Given the description of an element on the screen output the (x, y) to click on. 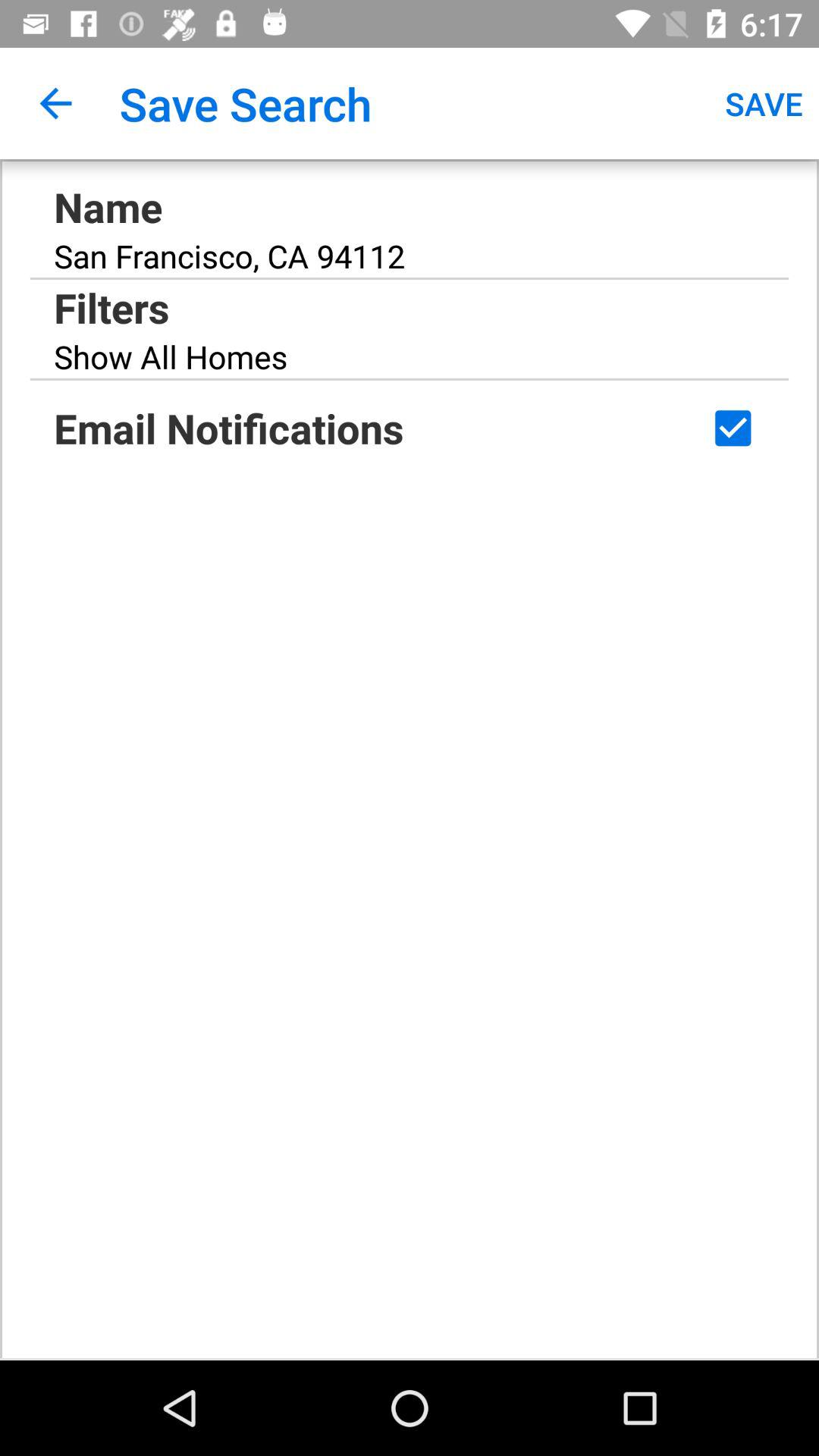
check box to enable the email notifications (732, 428)
